Given the description of an element on the screen output the (x, y) to click on. 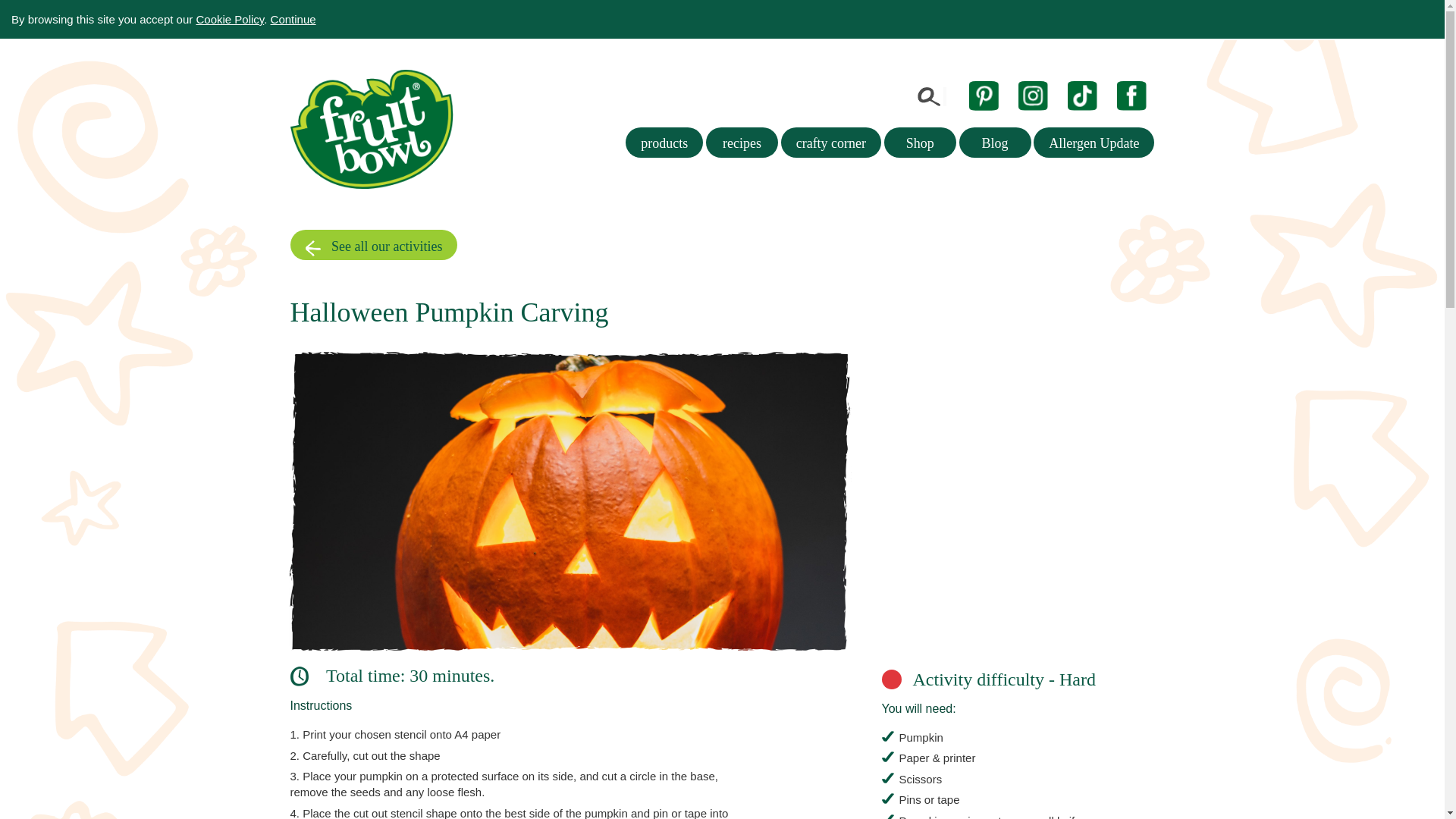
Shop (919, 142)
crafty corner (830, 142)
Allergen Update (1093, 142)
Continue (292, 19)
recipes (741, 142)
See all our activities (373, 245)
Blog (994, 142)
products (664, 142)
Cookie Policy (229, 19)
